Given the description of an element on the screen output the (x, y) to click on. 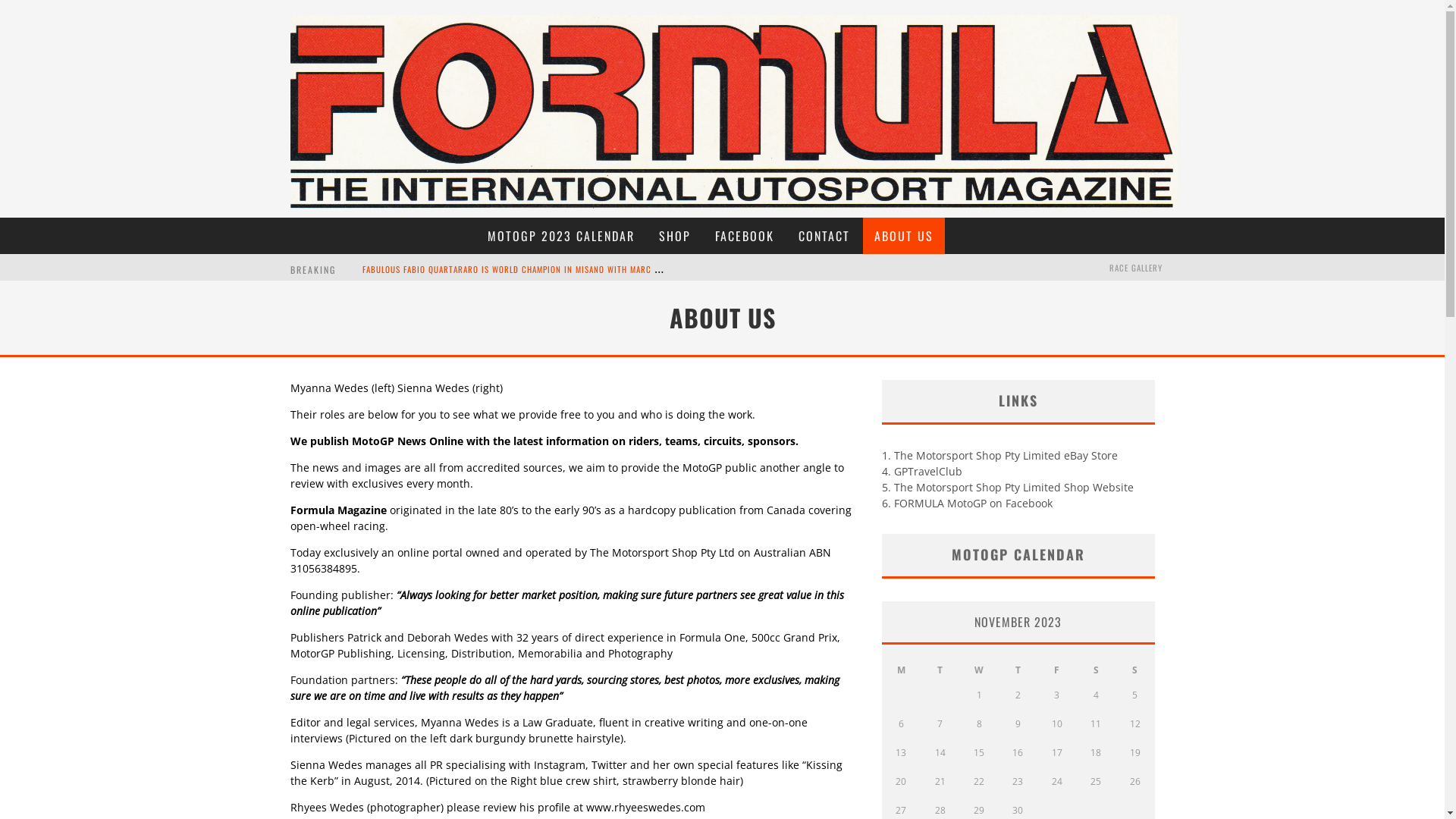
RACE GALLERY Element type: text (1135, 267)
1. The Motorsport Shop Pty Limited eBay Store Element type: text (999, 455)
4. GPTravelClub Element type: text (921, 471)
5. The Motorsport Shop Pty Limited Shop Website Element type: text (1006, 487)
SHOP Element type: text (674, 235)
Search Element type: hover (1163, 225)
6. FORMULA MotoGP on Facebook Element type: text (966, 502)
CONTACT Element type: text (824, 235)
ABOUT US Element type: text (903, 235)
FACEBOOK Element type: text (744, 235)
MOTOGP 2023 CALENDAR Element type: text (561, 235)
